Given the description of an element on the screen output the (x, y) to click on. 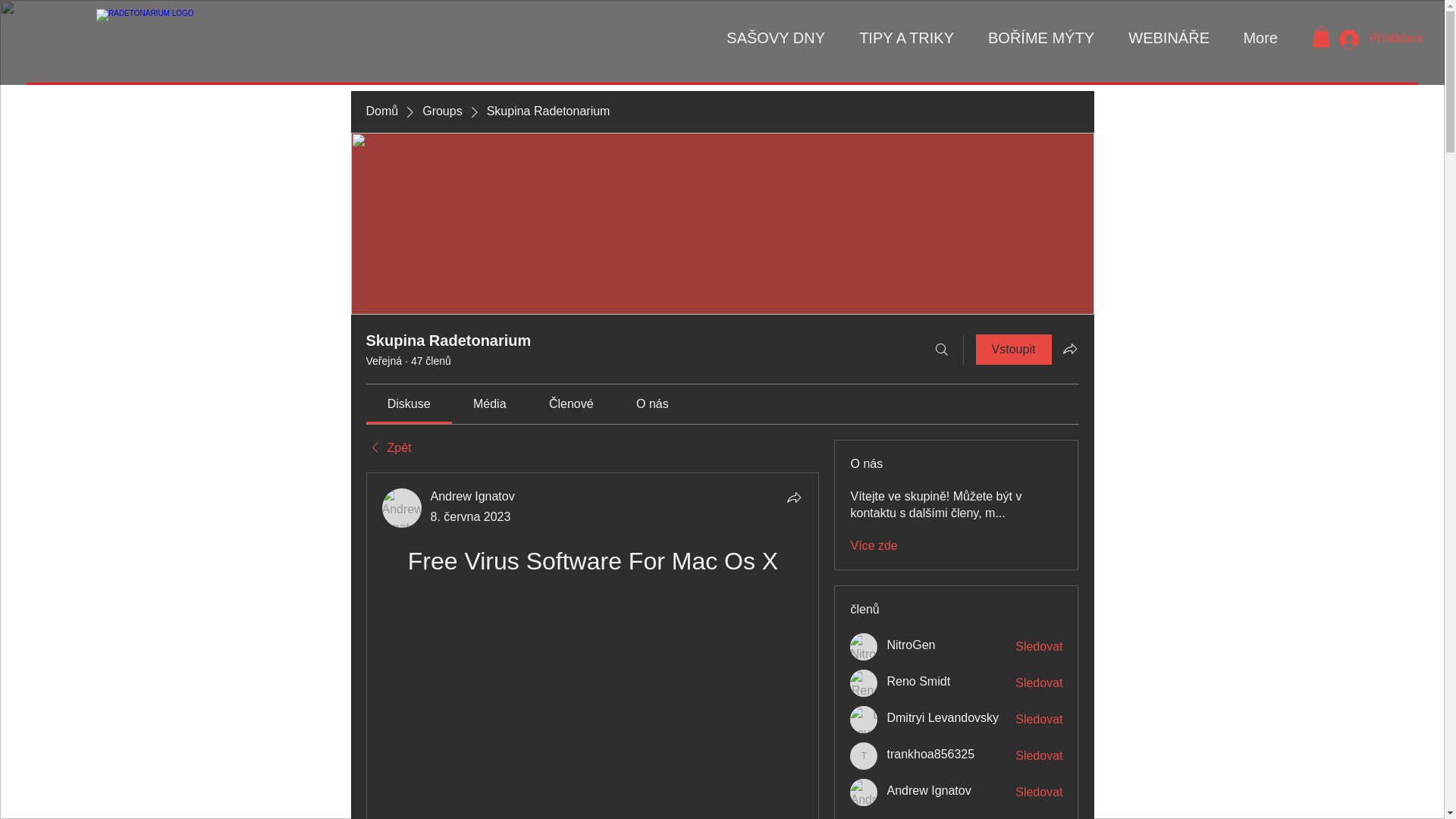
NitroGen (910, 645)
Andrew Ignatov (472, 495)
NitroGen (910, 645)
NitroGen (863, 646)
Andrew Ignatov (928, 790)
Sledovat (1038, 791)
Sledovat (1038, 755)
trankhoa856325 (863, 755)
TIPY A TRIKY (900, 37)
Groups (441, 111)
